Given the description of an element on the screen output the (x, y) to click on. 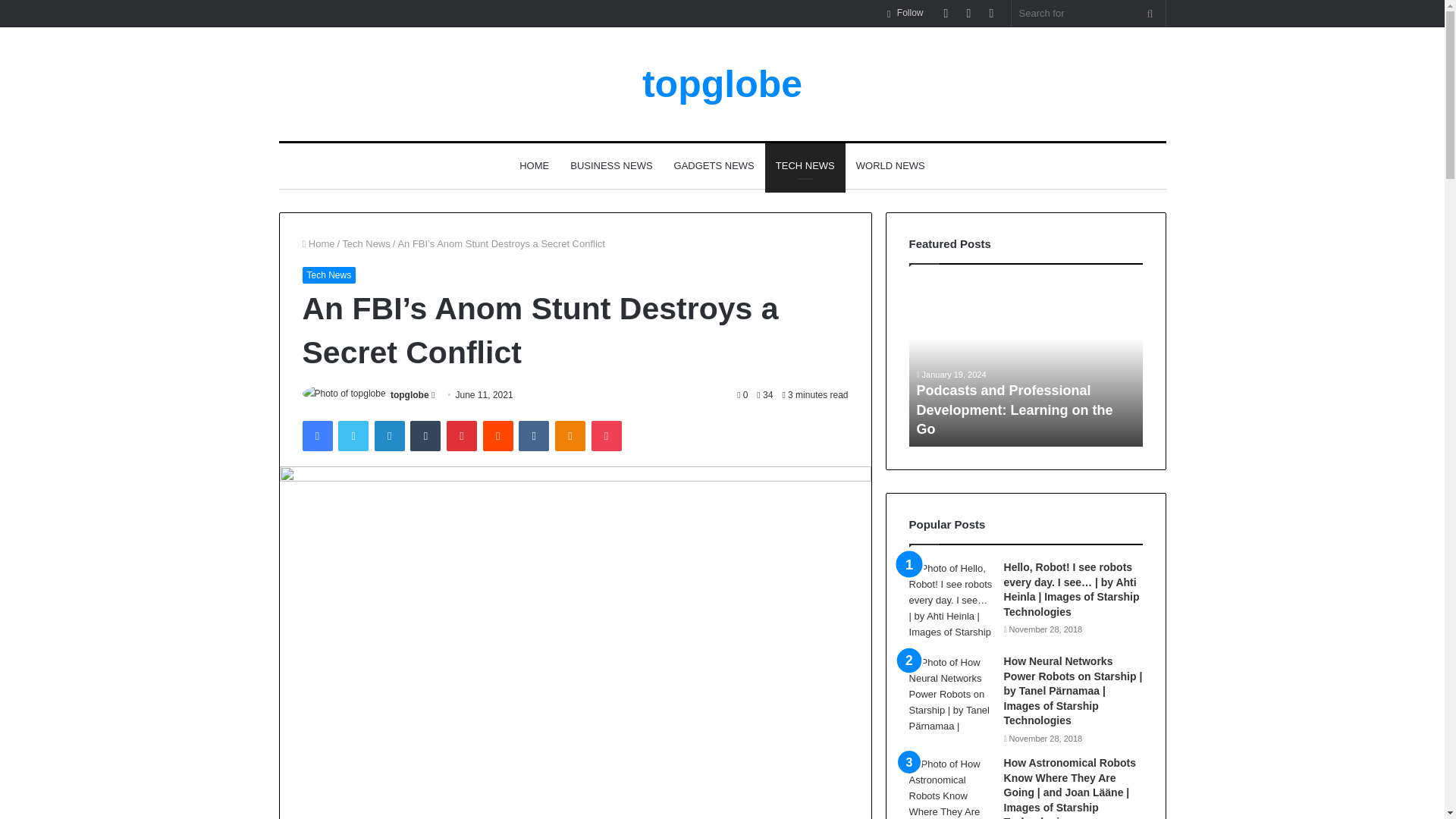
VKontakte (533, 435)
Pinterest (461, 435)
Tech News (328, 274)
topglobe (722, 84)
Tech News (366, 243)
Tumblr (425, 435)
Reddit (498, 435)
Tumblr (425, 435)
Pinterest (461, 435)
VKontakte (533, 435)
